Given the description of an element on the screen output the (x, y) to click on. 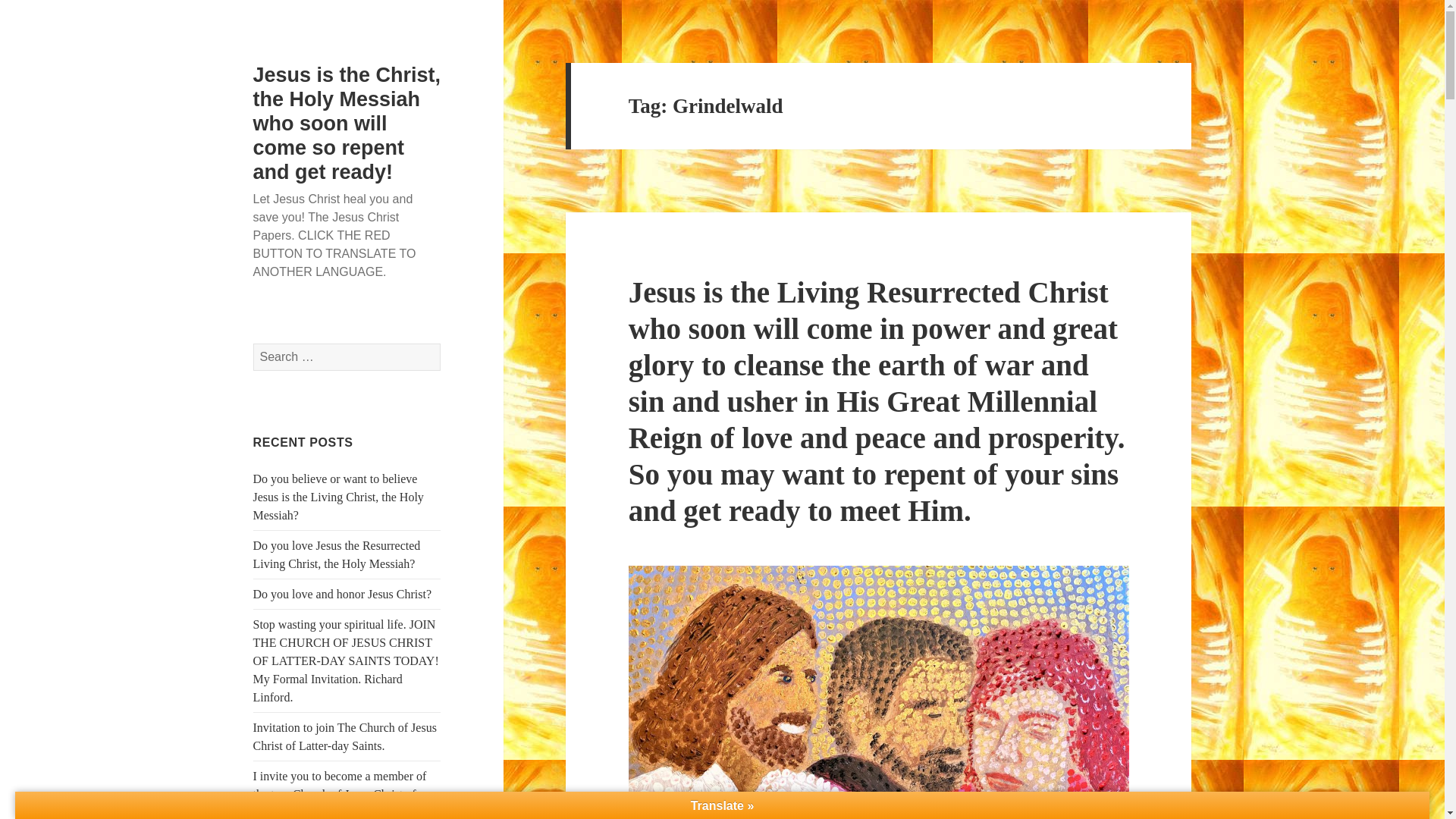
Do you love and honor Jesus Christ? (342, 594)
